Given the description of an element on the screen output the (x, y) to click on. 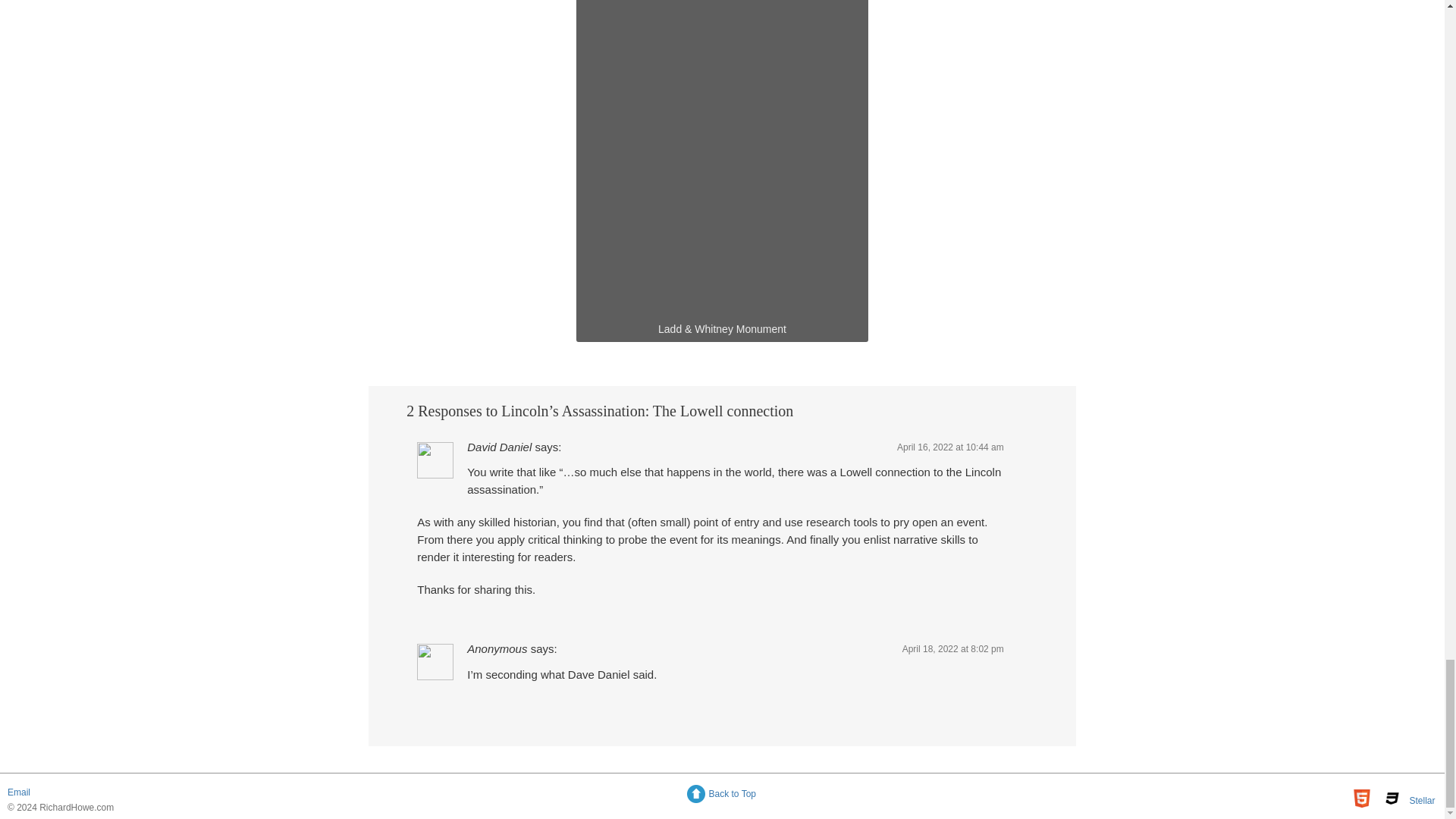
Styled Using CSS3 (1391, 798)
April 16, 2022 at 10:44 am (950, 447)
April 18, 2022 at 8:02 pm (953, 648)
Built Using HTML5 (1361, 798)
